Given the description of an element on the screen output the (x, y) to click on. 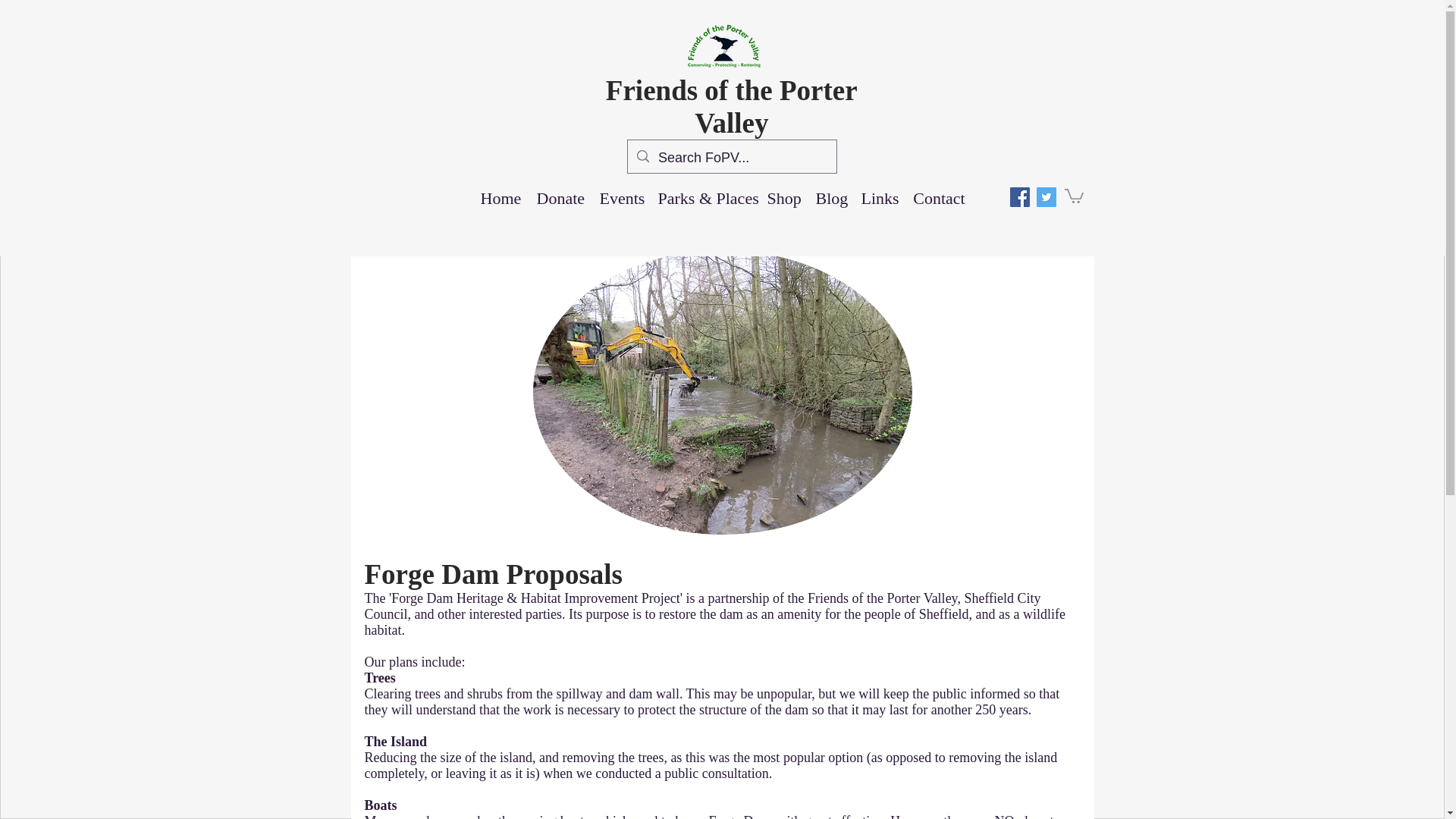
Blog (830, 198)
Shop (784, 198)
Friends of the Porter Valley (731, 106)
Home (501, 198)
Contact (939, 198)
Donate (560, 198)
